Given the description of an element on the screen output the (x, y) to click on. 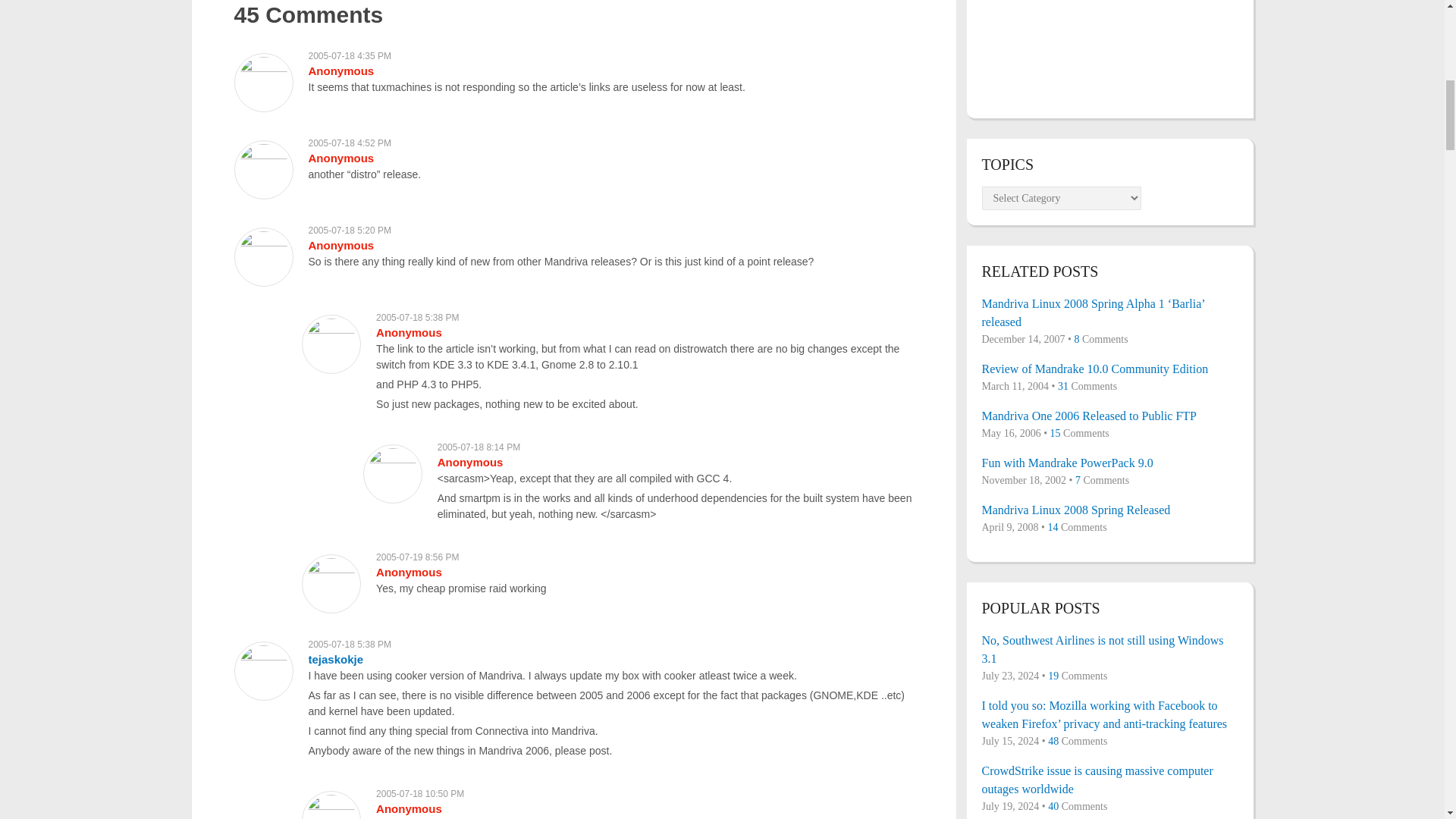
Anonymous (408, 332)
Anonymous (340, 245)
Anonymous (408, 571)
Anonymous (340, 70)
Anonymous (340, 157)
Anonymous (408, 808)
Anonymous (470, 461)
tejaskokje (334, 658)
